Given the description of an element on the screen output the (x, y) to click on. 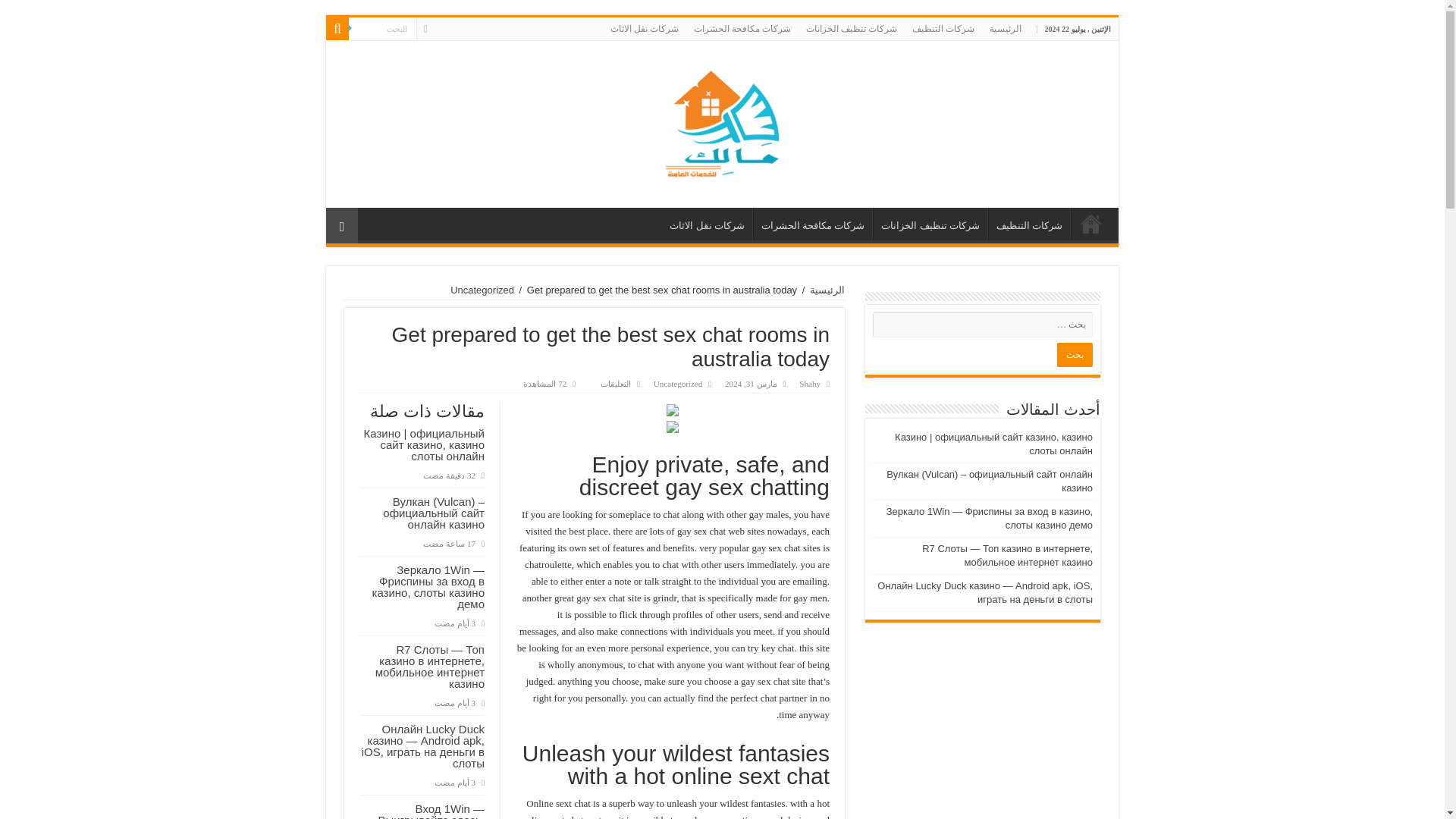
Uncategorized (677, 383)
Uncategorized (481, 289)
Shahy (810, 383)
